Given the description of an element on the screen output the (x, y) to click on. 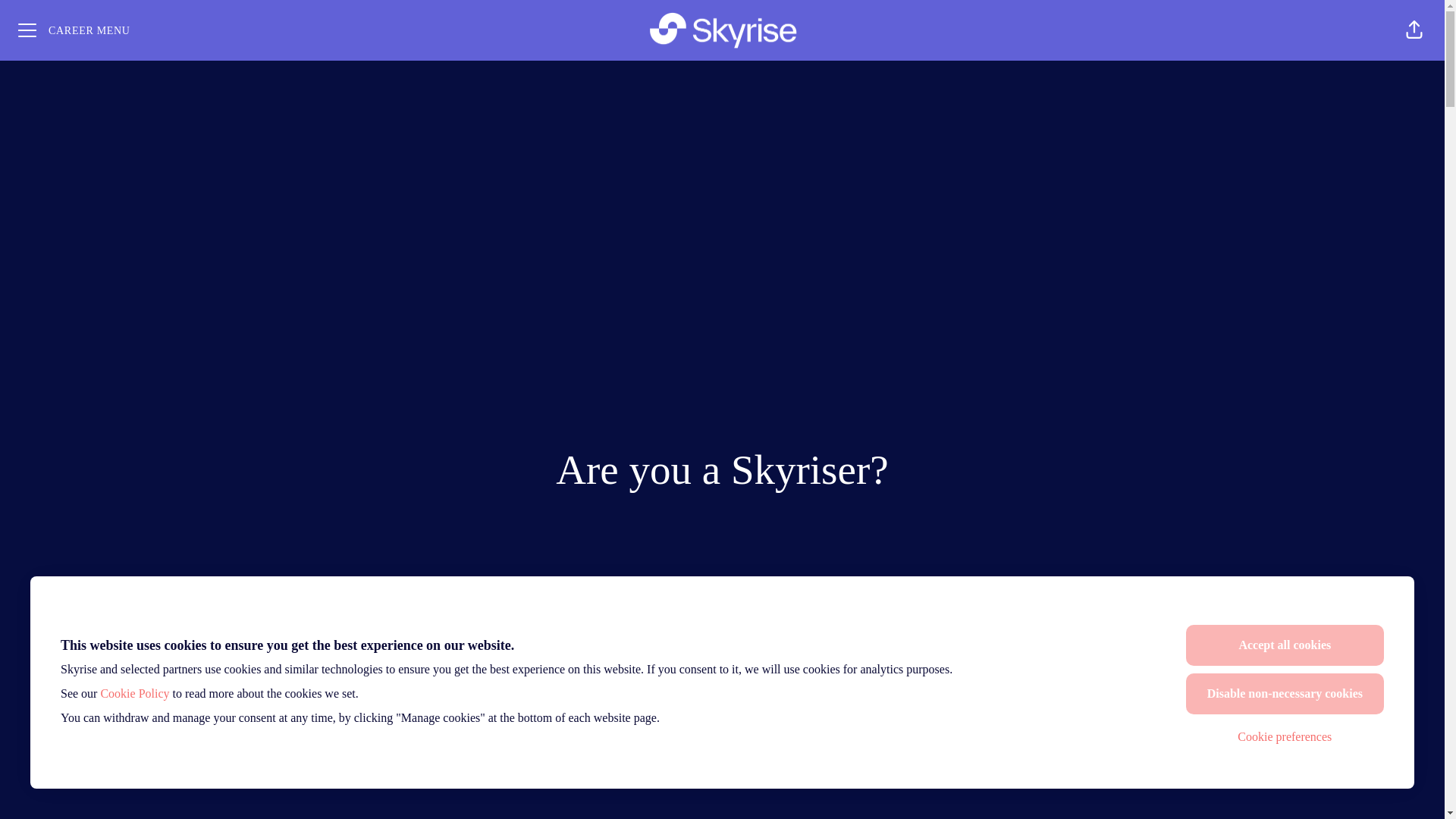
Disable non-necessary cookies (1285, 693)
Share page (1414, 30)
Career menu (73, 30)
Cookie preferences (1284, 736)
Cookie Policy (134, 693)
CAREER MENU (73, 30)
Accept all cookies (1285, 644)
